Given the description of an element on the screen output the (x, y) to click on. 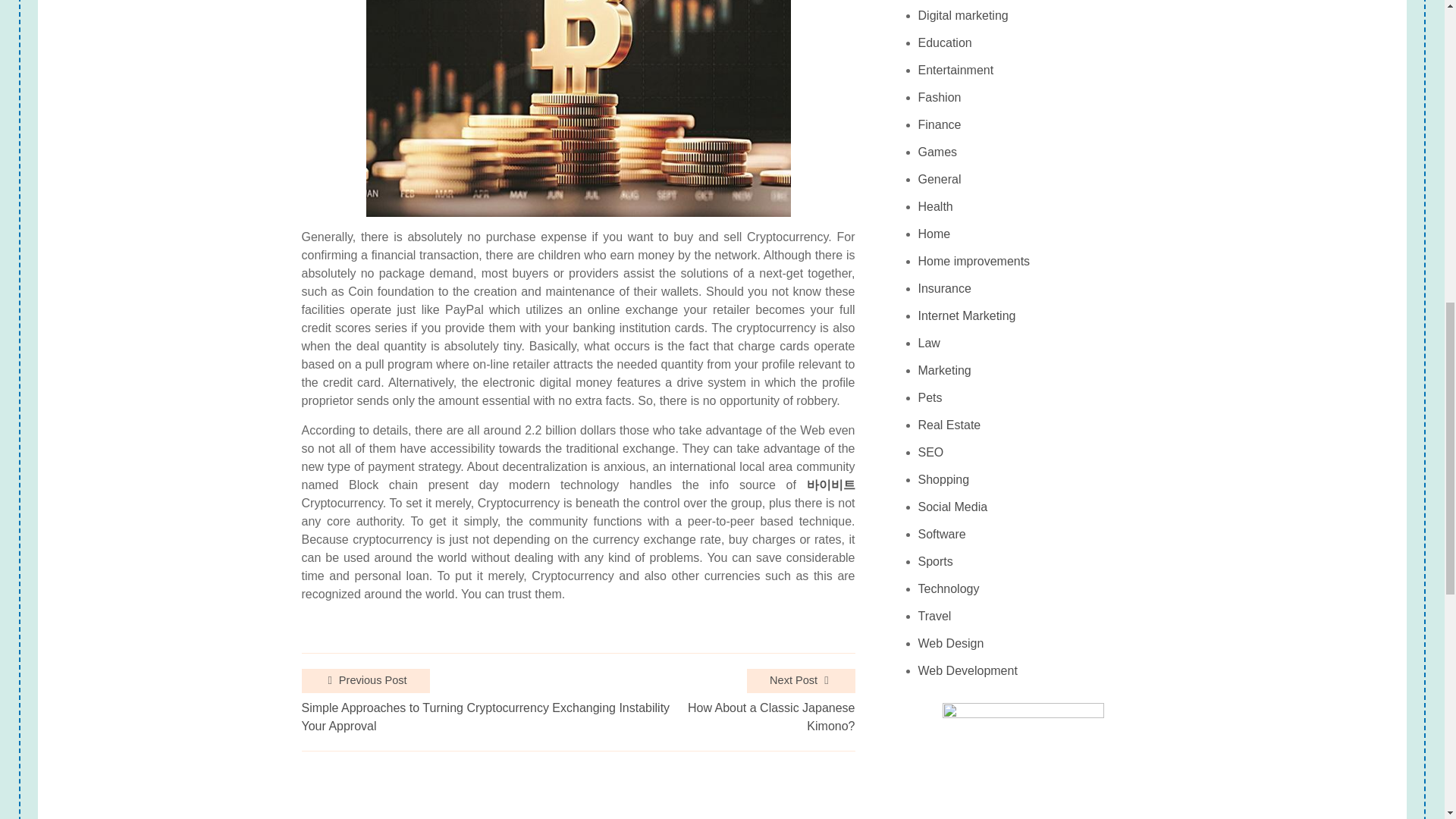
Marketing (944, 370)
Previous Post (365, 680)
Cryptocurrency (959, 1)
Internet Marketing (967, 316)
Home (934, 234)
Digital marketing (963, 15)
Entertainment (956, 70)
Finance (939, 124)
Education (945, 42)
